Given the description of an element on the screen output the (x, y) to click on. 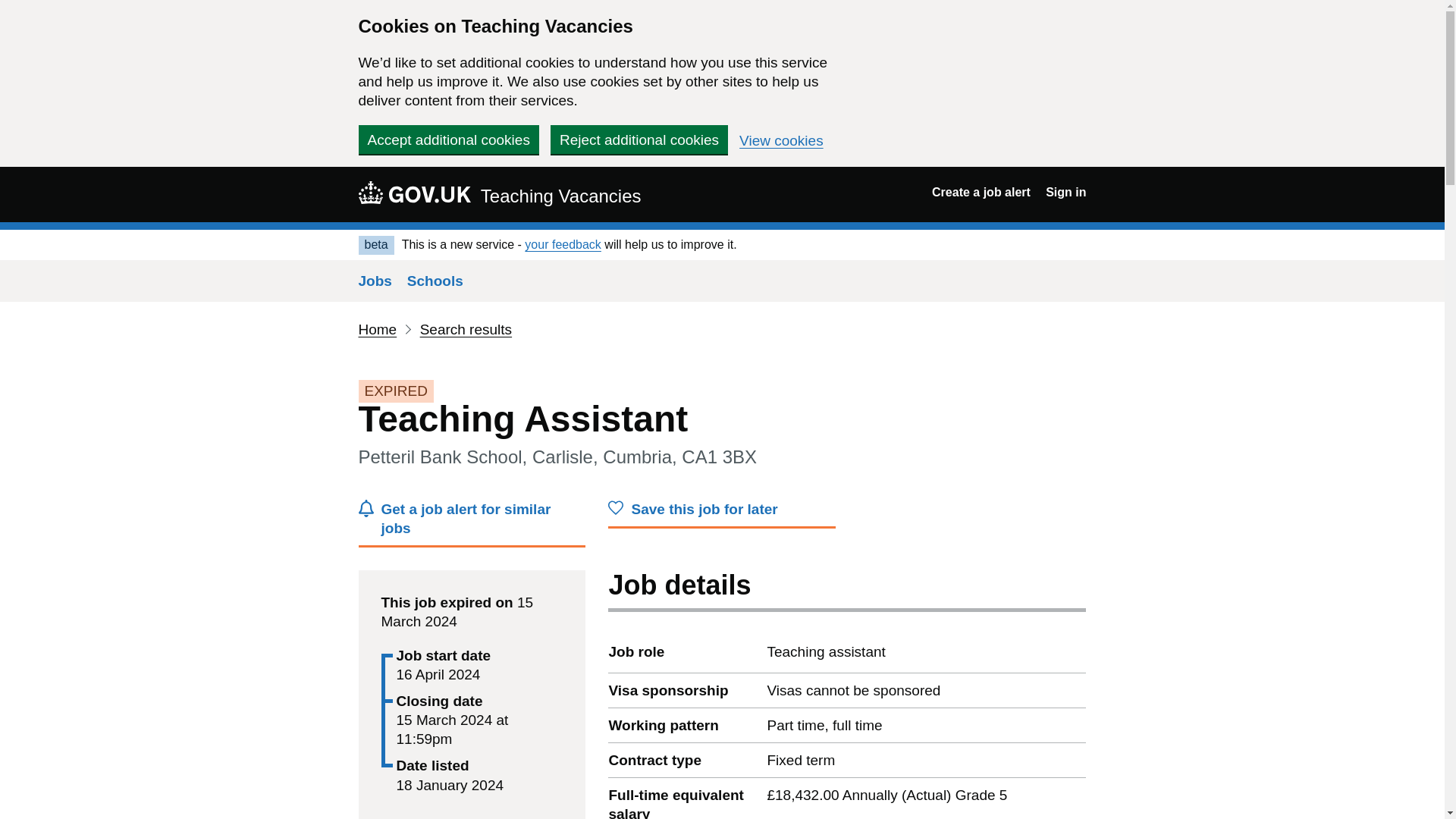
Schools (435, 281)
Save this job for later (721, 513)
Home (377, 329)
View cookies (781, 140)
GOV.UK Teaching Vacancies (499, 194)
Get a job alert for similar jobs (471, 522)
GOV.UK (414, 191)
Sign in (1065, 192)
your feedback (562, 244)
